Given the description of an element on the screen output the (x, y) to click on. 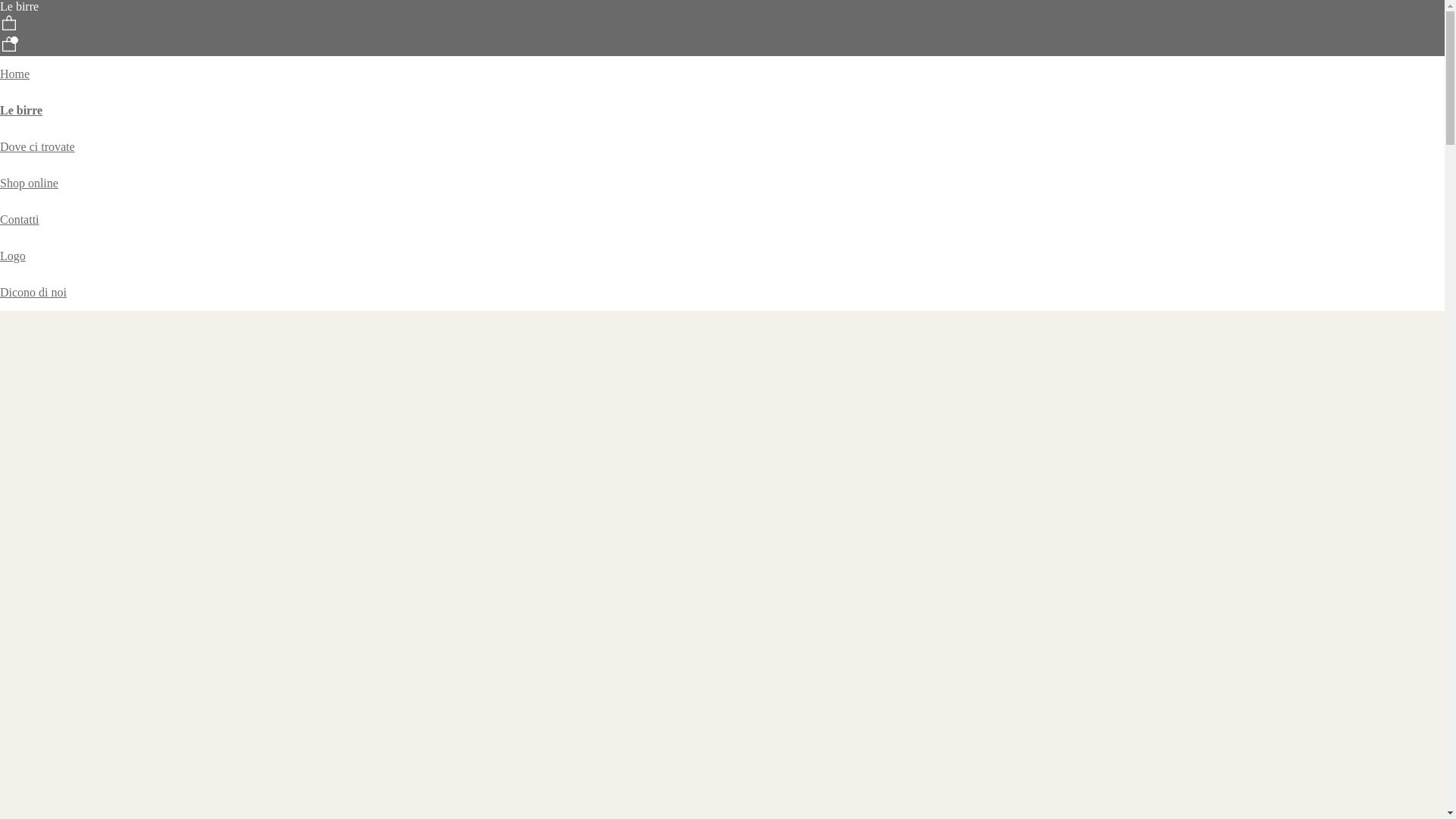
Logo Element type: text (12, 255)
Le birre Element type: text (21, 109)
Home Element type: text (14, 73)
Shop online Element type: text (29, 182)
Dove ci trovate Element type: text (37, 146)
Dicono di noi Element type: text (33, 291)
Contatti Element type: text (19, 219)
